Given the description of an element on the screen output the (x, y) to click on. 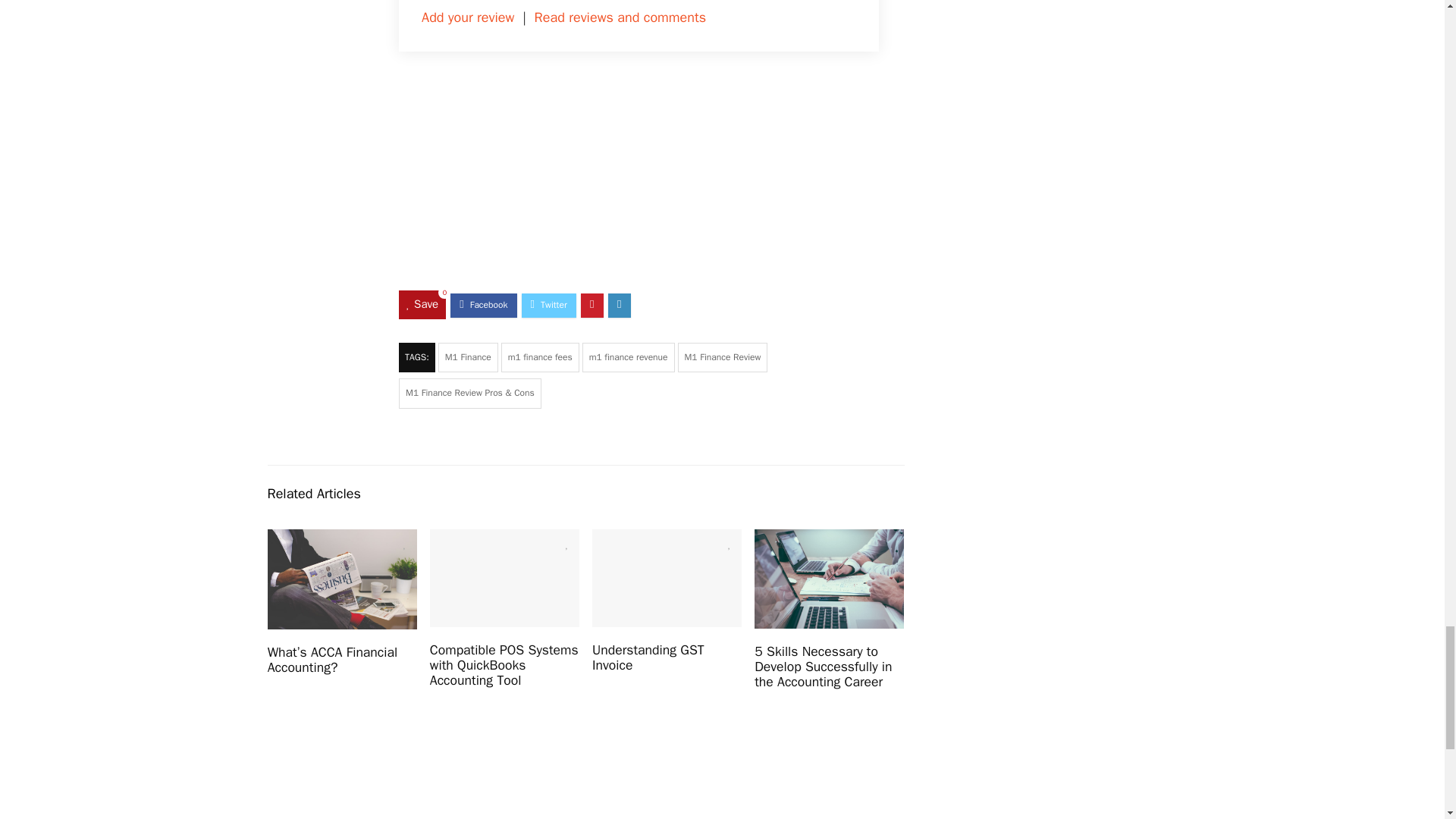
M1 Finance (467, 357)
M1 Finance Review (723, 357)
Add your review (467, 17)
Compatible POS Systems with QuickBooks Accounting Tool (503, 664)
Read reviews and comments (620, 17)
Add your review (467, 17)
m1 finance revenue (628, 357)
m1 finance fees (539, 357)
Understanding GST Invoice (648, 657)
Read reviews and comments (620, 17)
